Given the description of an element on the screen output the (x, y) to click on. 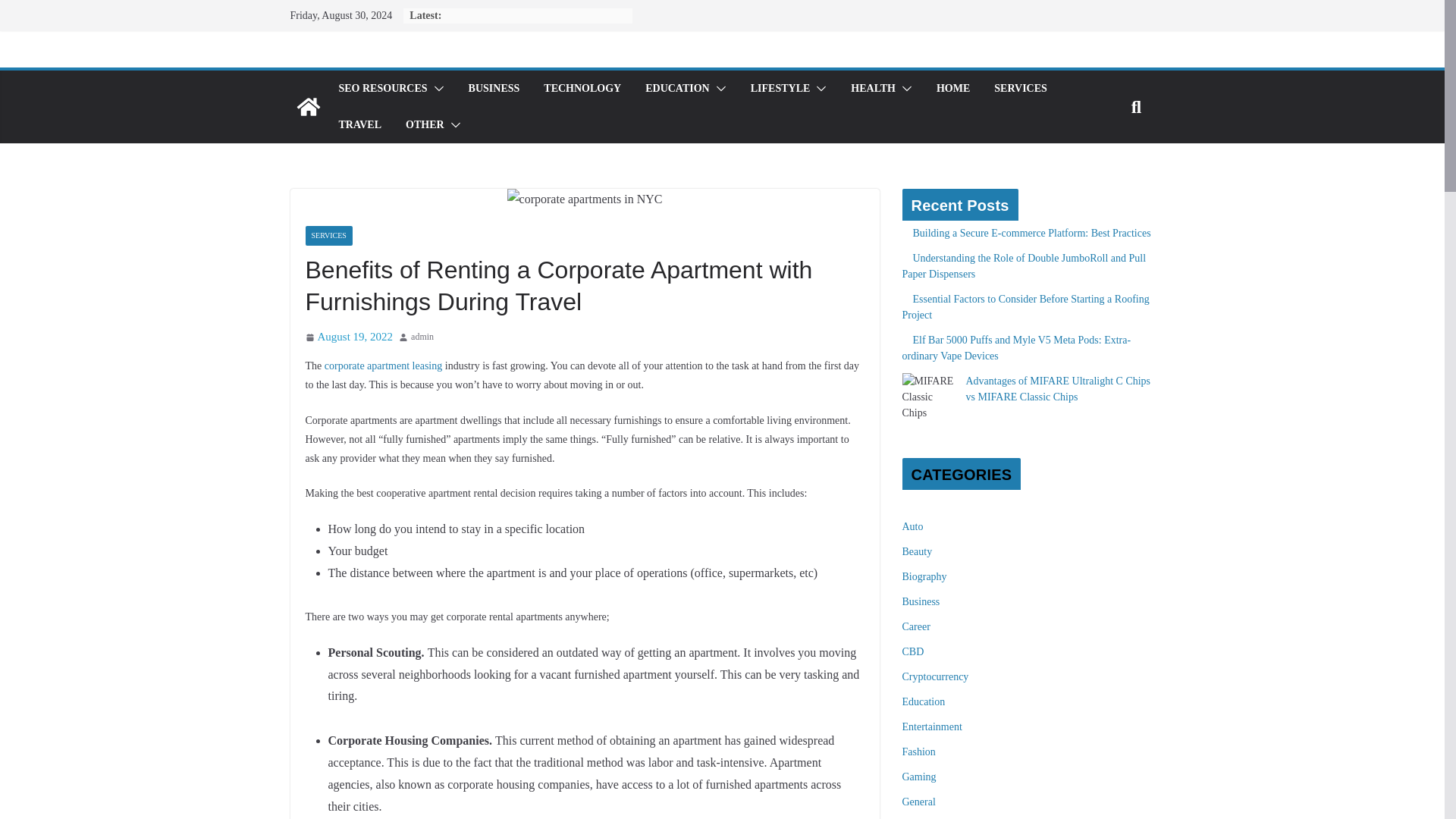
corporate apartment leasing (383, 365)
BUSINESS (493, 88)
5:34 pm (348, 336)
TRAVEL (359, 124)
TECHNOLOGY (582, 88)
HOME (952, 88)
Building a Secure E-commerce Platform: Best Practices (1031, 233)
